Given the description of an element on the screen output the (x, y) to click on. 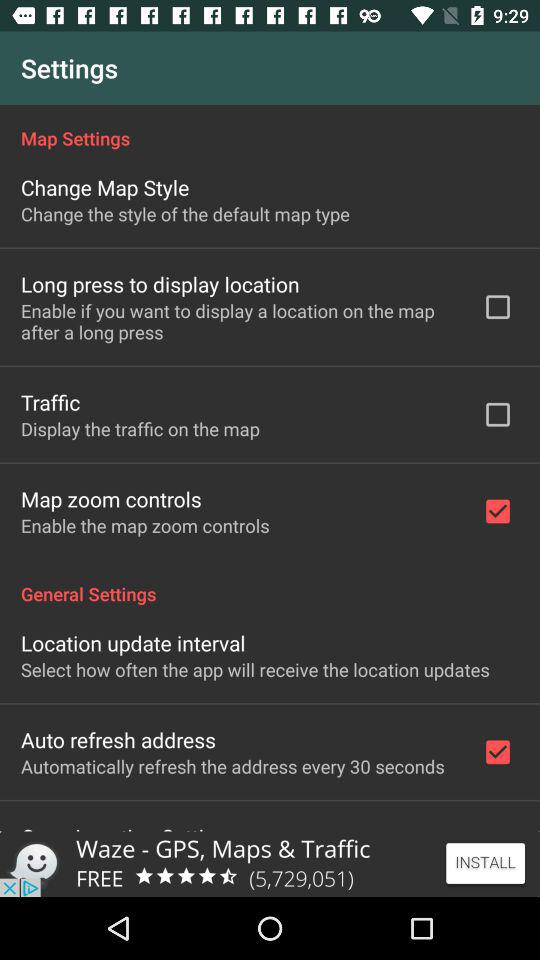
jump to enable if you item (238, 321)
